Given the description of an element on the screen output the (x, y) to click on. 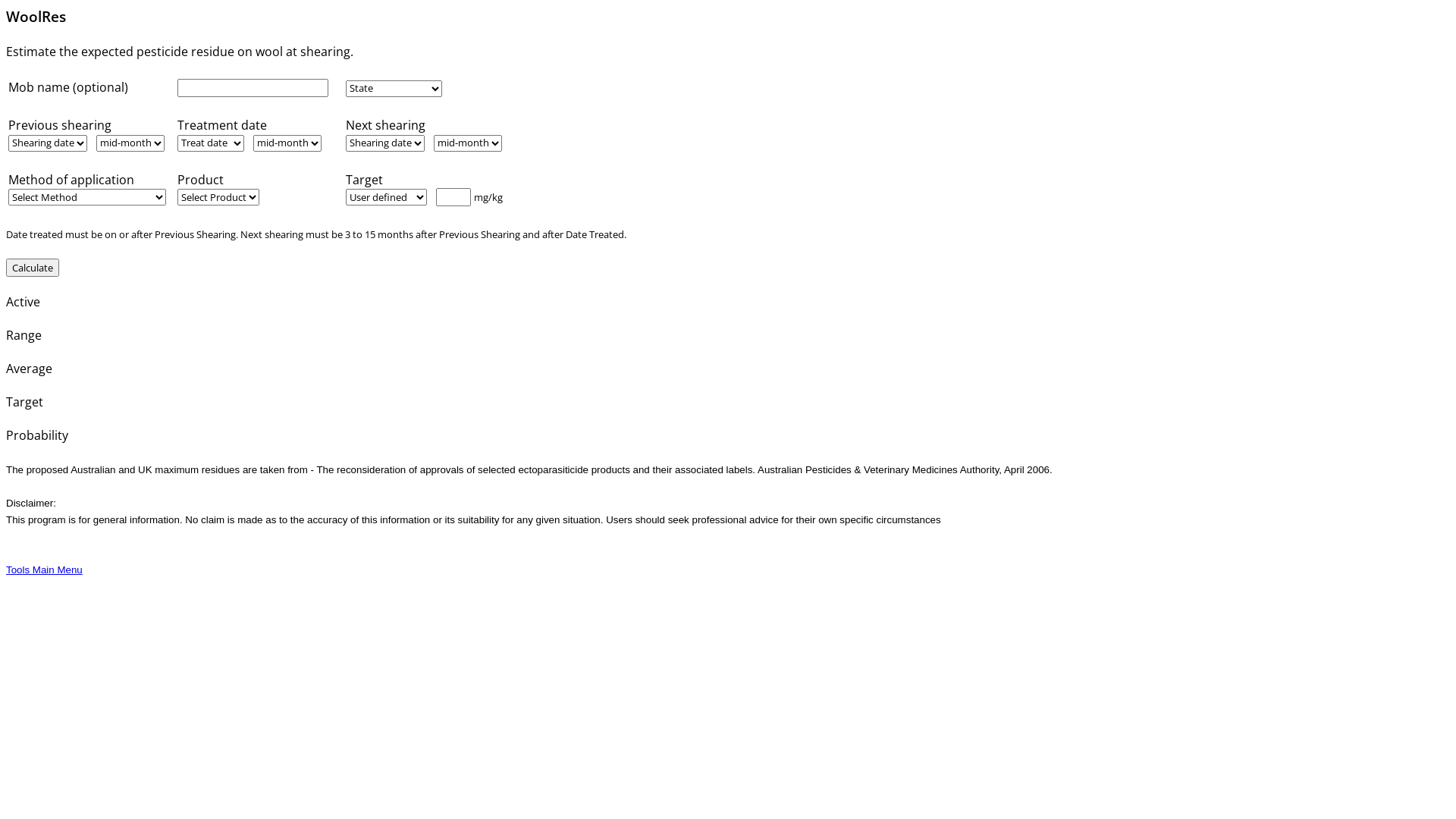
Tools Main Menu Element type: text (44, 569)
Calculate Element type: text (32, 266)
